Given the description of an element on the screen output the (x, y) to click on. 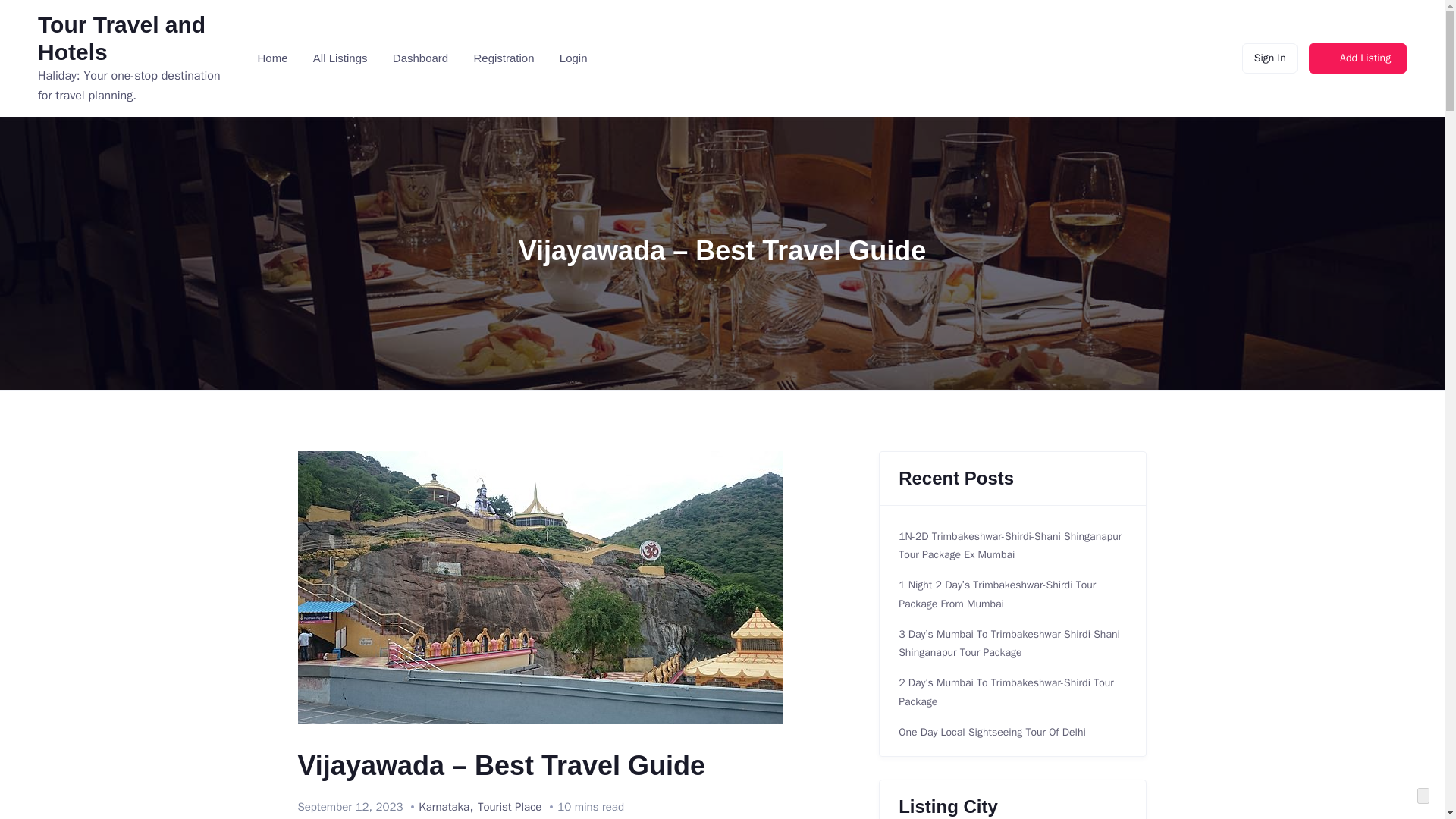
Sign In (1269, 58)
Tourist Place (509, 807)
All Listings (339, 58)
Login (571, 58)
Tour Travel and Hotels (121, 38)
Home (272, 58)
Karnataka (443, 807)
Dashboard (419, 58)
Registration (502, 58)
Add Listing (1357, 58)
